Given the description of an element on the screen output the (x, y) to click on. 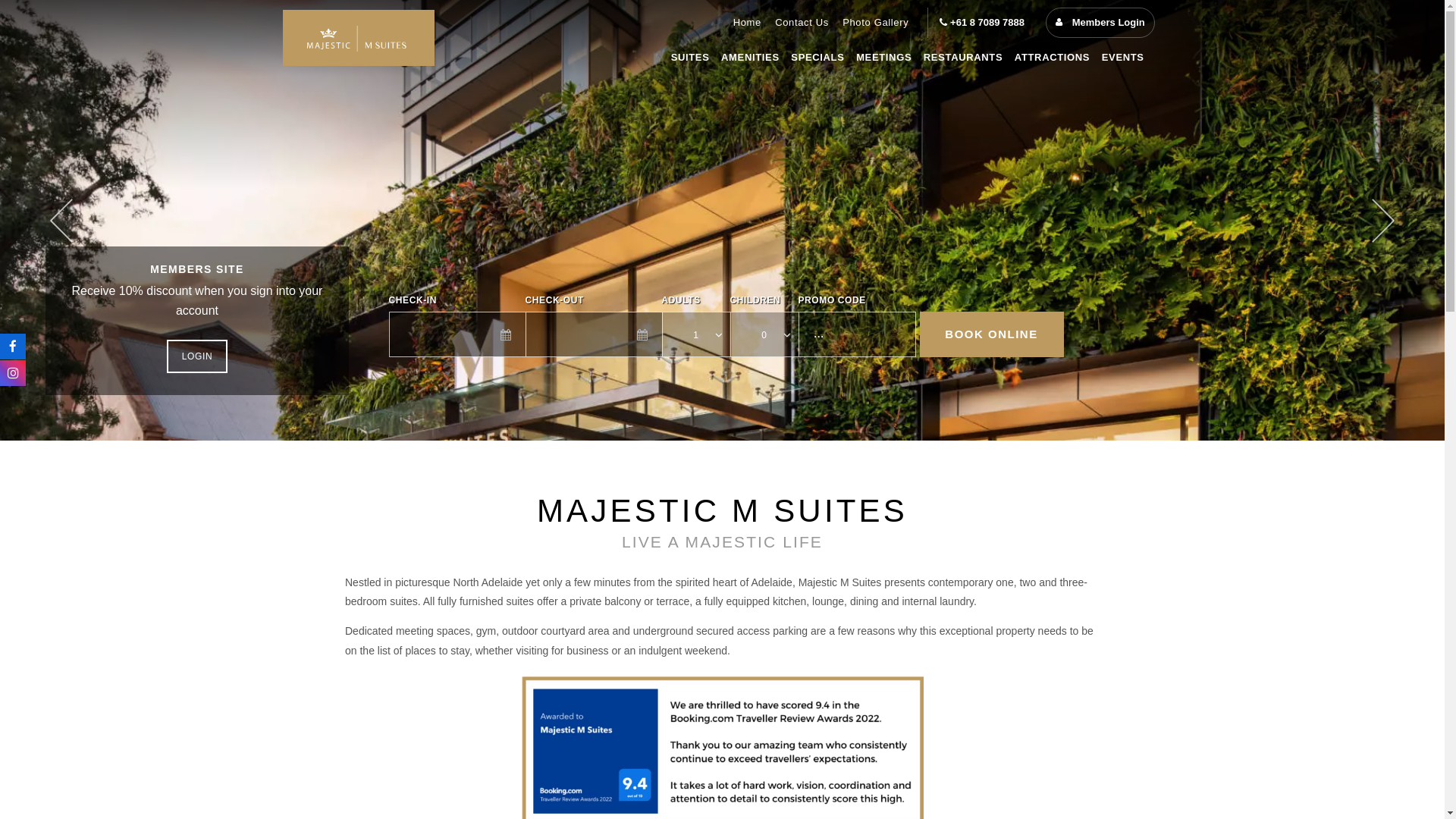
Home Element type: text (747, 22)
RESTAURANTS Element type: text (962, 57)
Contact Us Element type: text (801, 22)
Photo Gallery Element type: text (875, 22)
MEETINGS Element type: text (883, 57)
EVENTS Element type: text (1122, 57)
LOGIN Element type: text (196, 356)
SPECIALS Element type: text (817, 57)
Members Login Element type: text (1099, 22)
ATTRACTIONS Element type: text (1051, 57)
AMENITIES Element type: text (749, 57)
SUITES Element type: text (690, 57)
+61 8 7089 7888 Element type: text (981, 22)
